Given the description of an element on the screen output the (x, y) to click on. 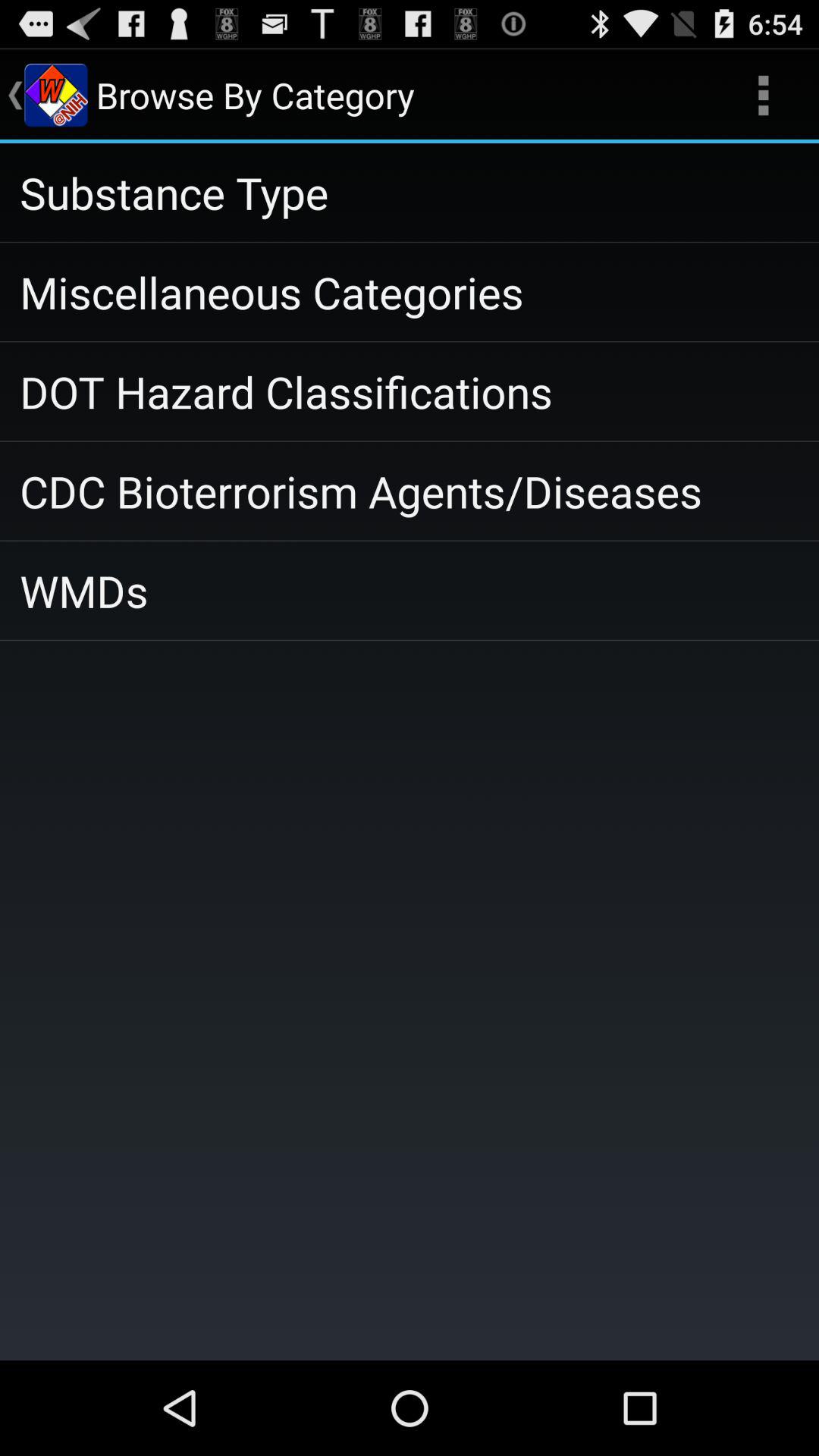
select the icon below miscellaneous categories icon (409, 391)
